Given the description of an element on the screen output the (x, y) to click on. 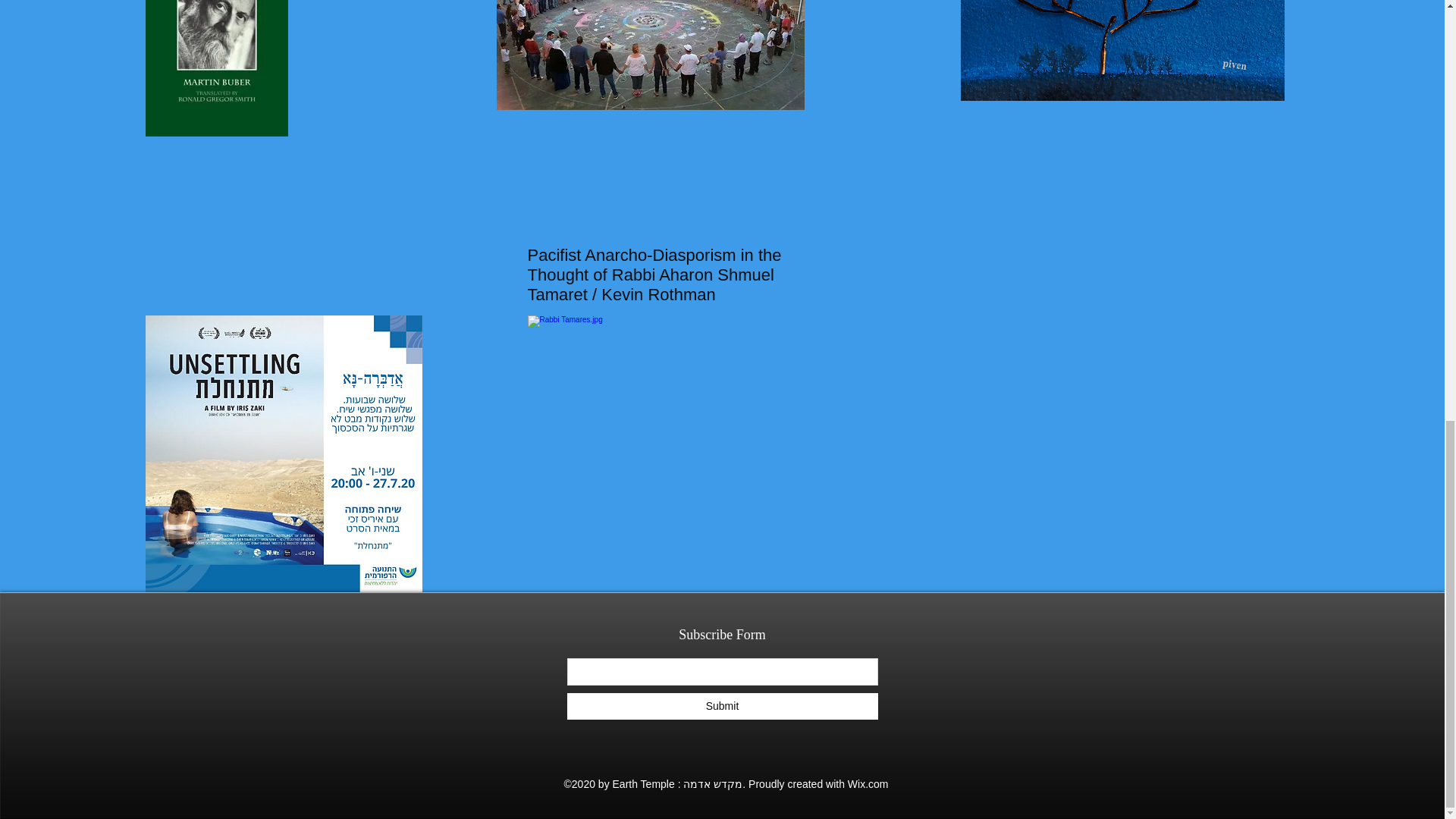
Submit (722, 705)
